Given the description of an element on the screen output the (x, y) to click on. 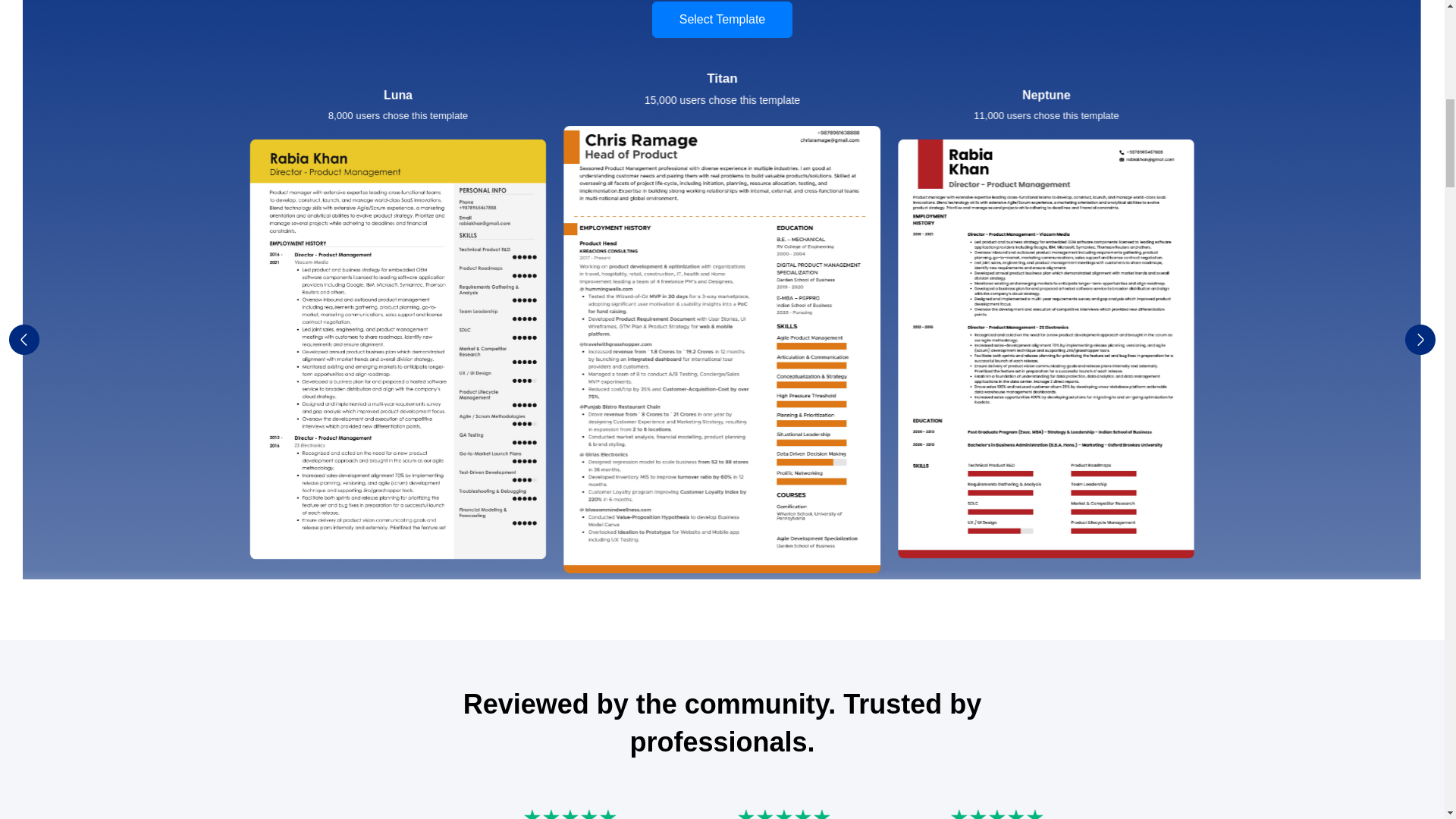
Select Template (722, 19)
